Given the description of an element on the screen output the (x, y) to click on. 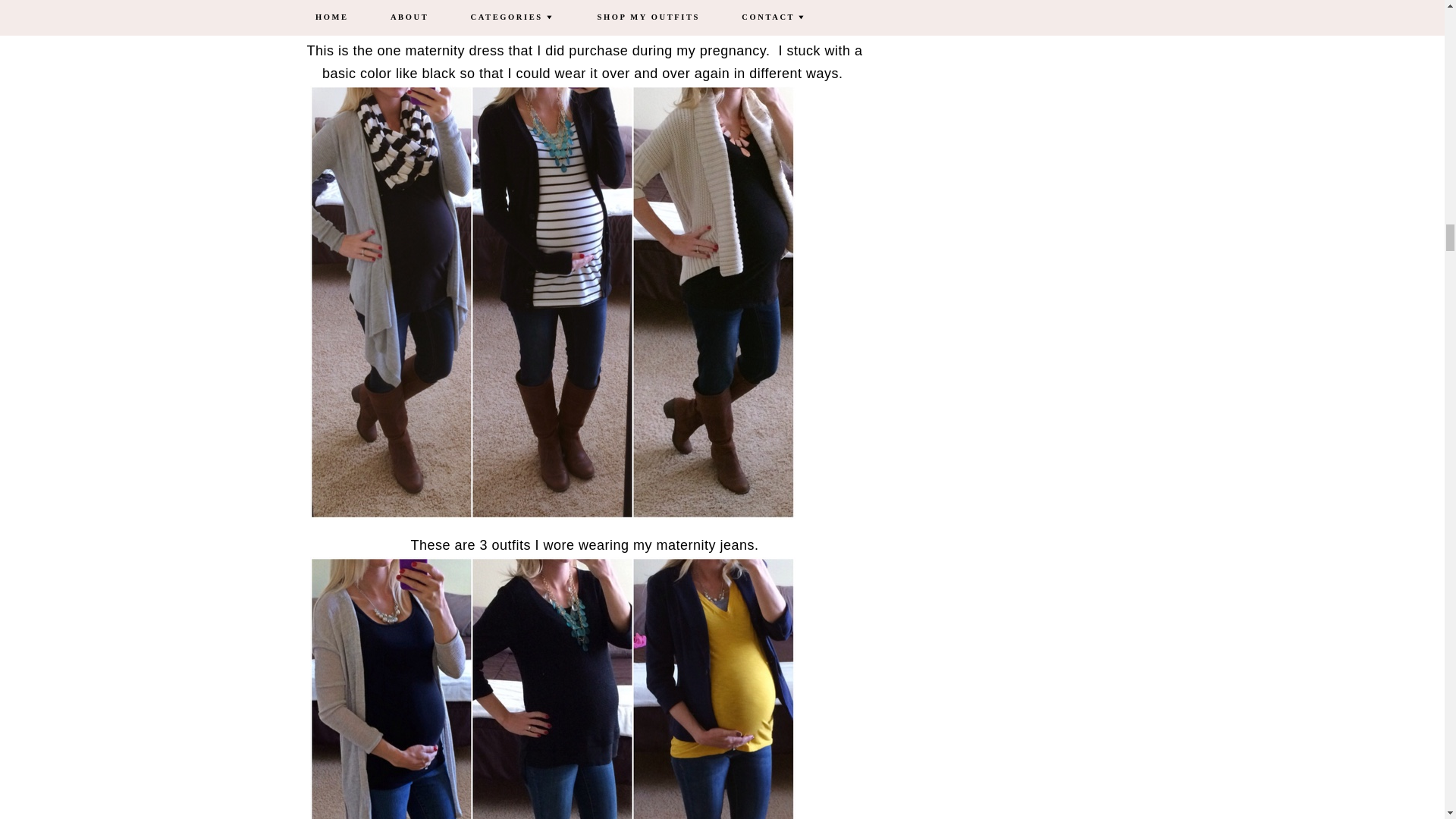
3 different ways to wear a simple maternity dress (552, 15)
How to wear your normal jeans all through your pregnancy (552, 688)
